Given the description of an element on the screen output the (x, y) to click on. 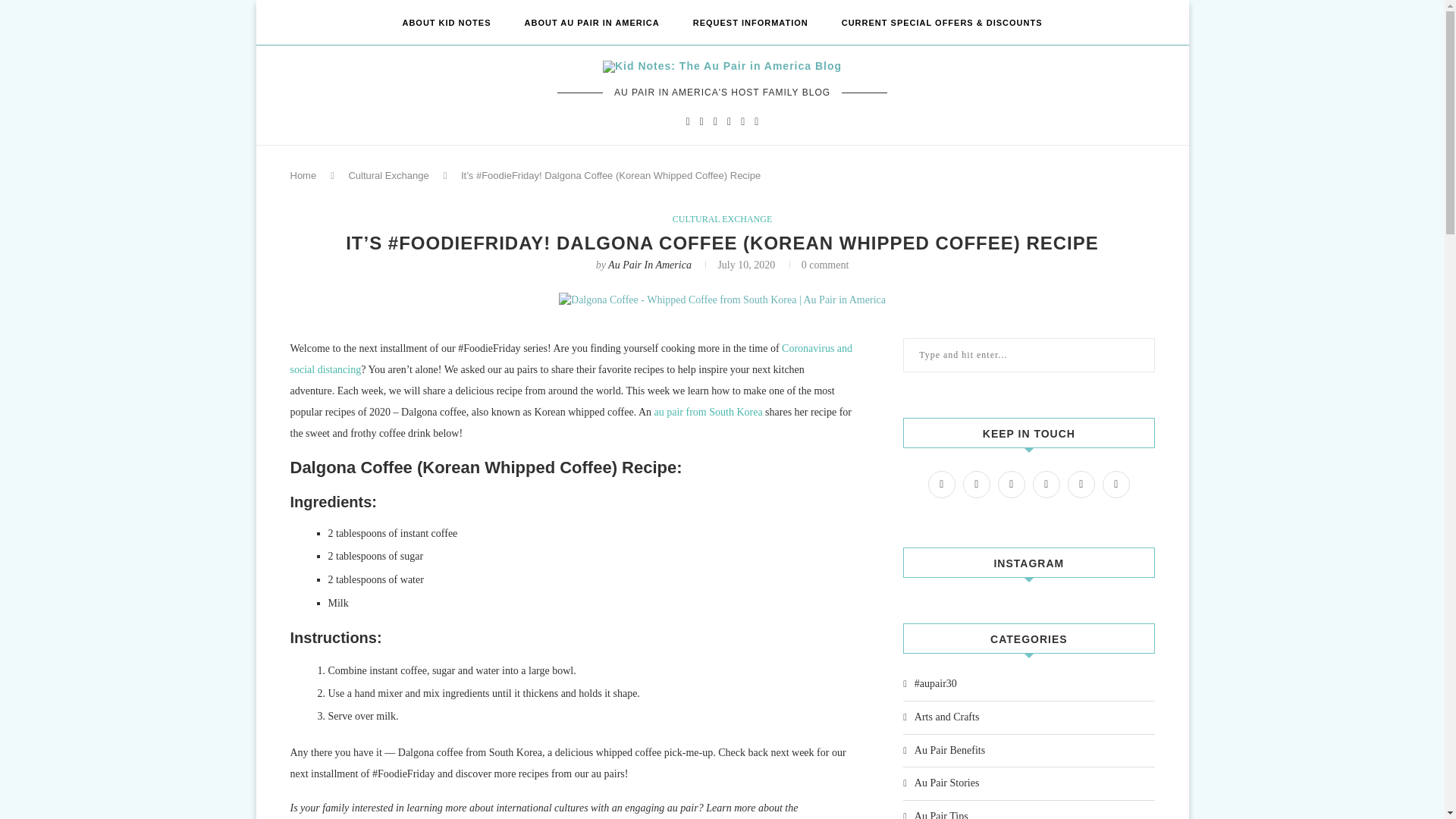
Cultural Exchange (387, 174)
ABOUT AU PAIR IN AMERICA (591, 22)
View all posts in Cultural Exchange (721, 218)
Home (302, 174)
Au Pair In America (649, 265)
au pair from South Korea (707, 411)
Coronavirus and social distancing (570, 359)
ABOUT KID NOTES (445, 22)
REQUEST INFORMATION (750, 22)
CULTURAL EXCHANGE (721, 218)
